Given the description of an element on the screen output the (x, y) to click on. 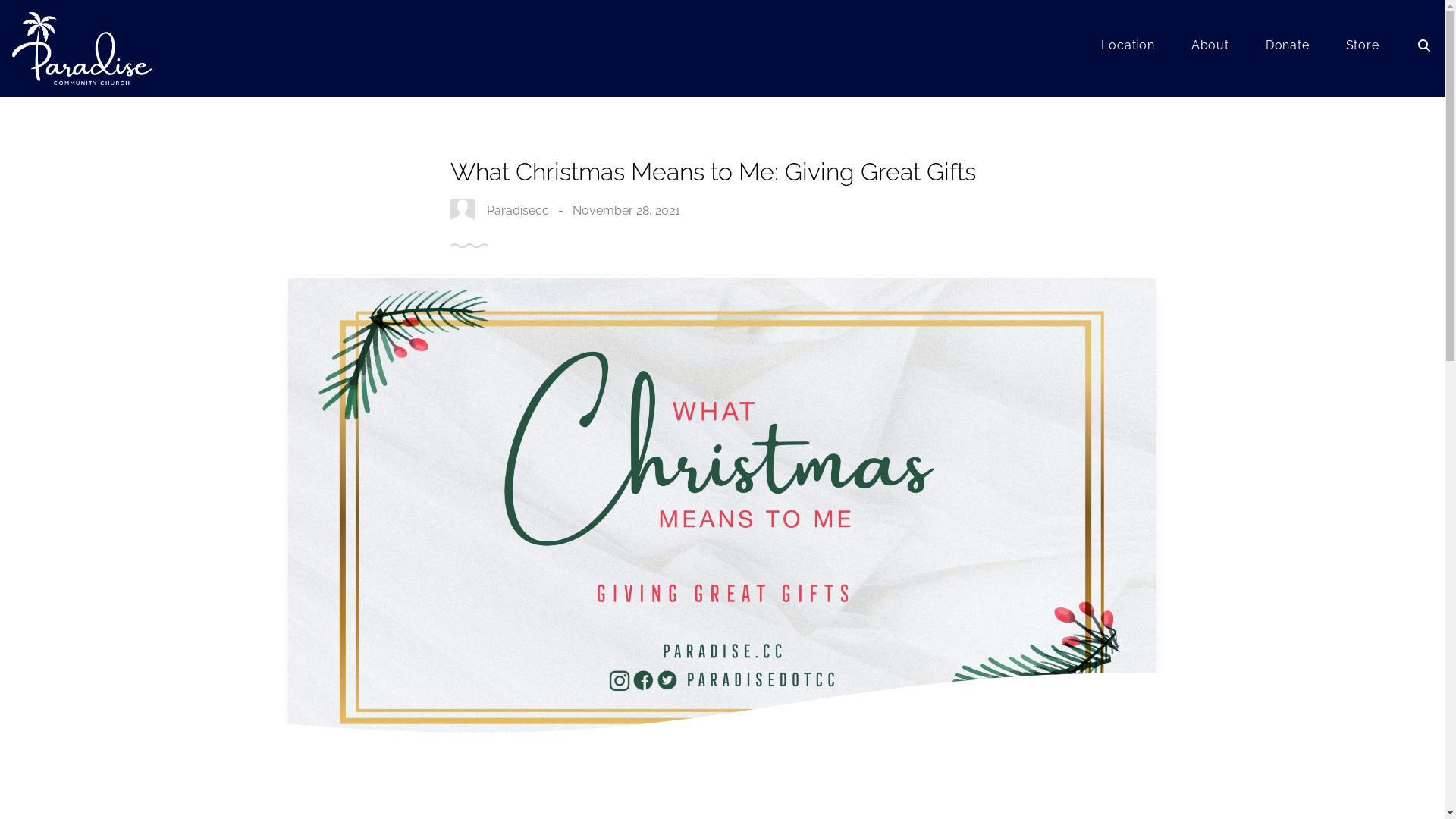
Store Element type: text (1362, 48)
Donate Element type: text (1287, 48)
About Element type: text (1210, 48)
Location Element type: text (1127, 48)
Paradisecc Element type: text (517, 210)
